Given the description of an element on the screen output the (x, y) to click on. 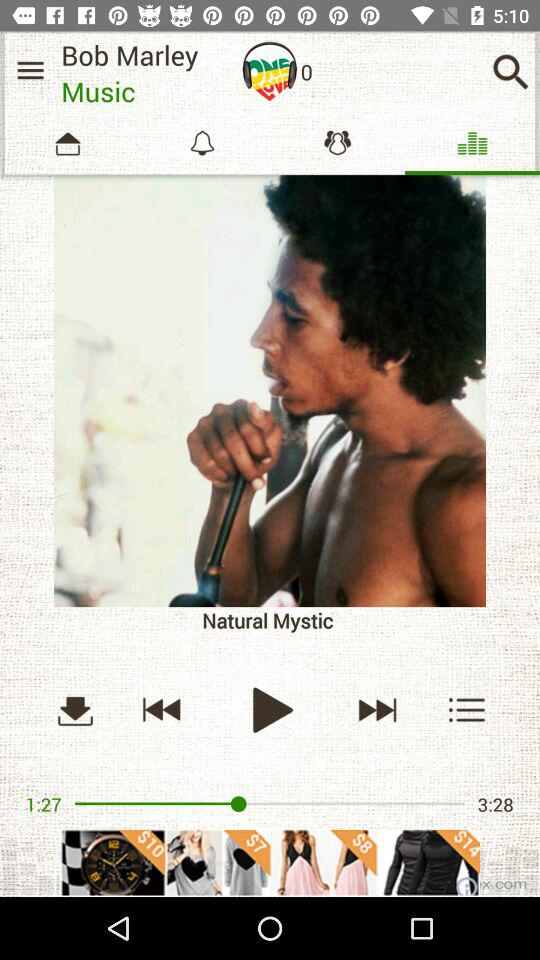
go to next (376, 709)
